Given the description of an element on the screen output the (x, y) to click on. 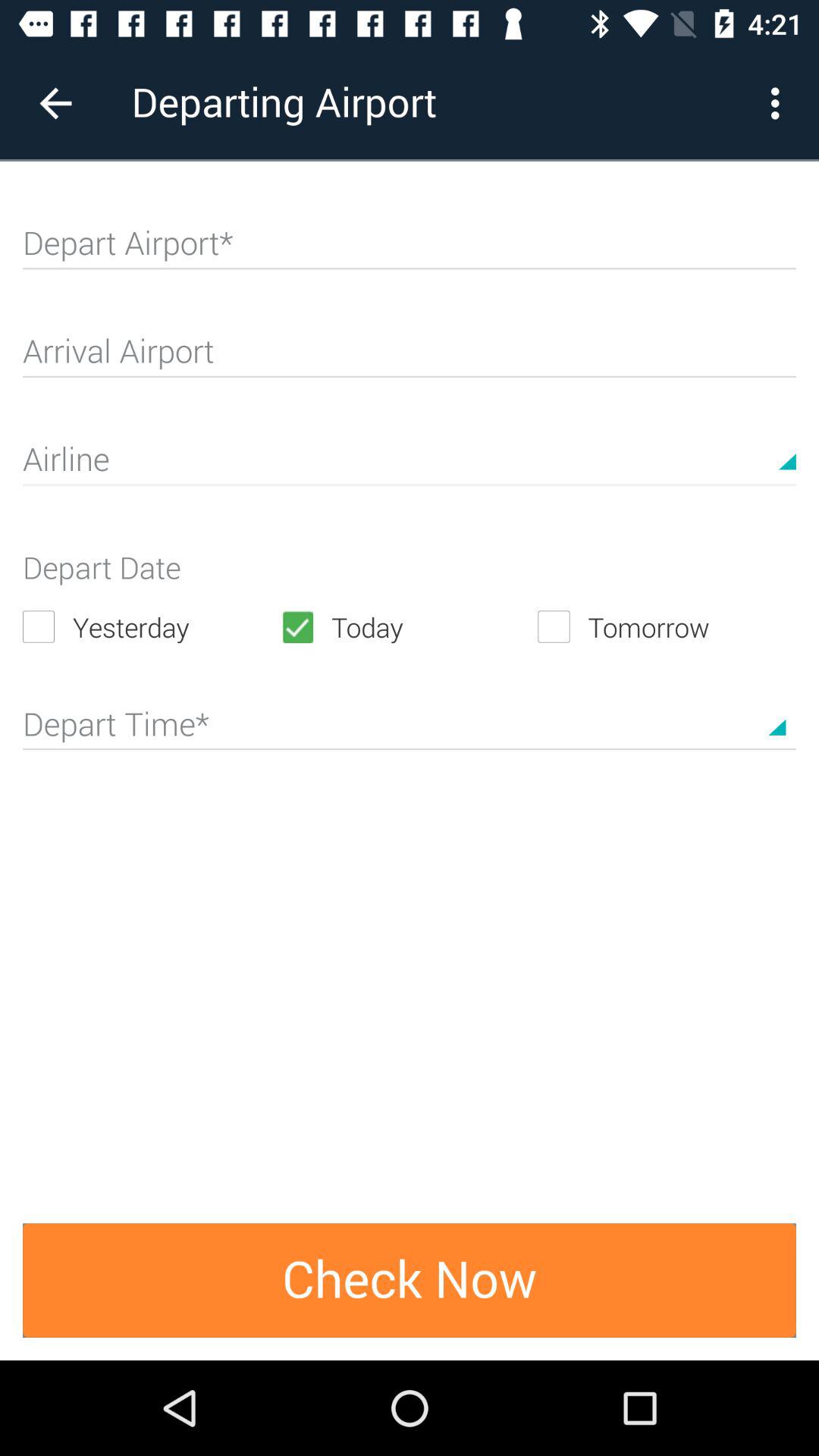
click the yesterday icon (151, 626)
